Given the description of an element on the screen output the (x, y) to click on. 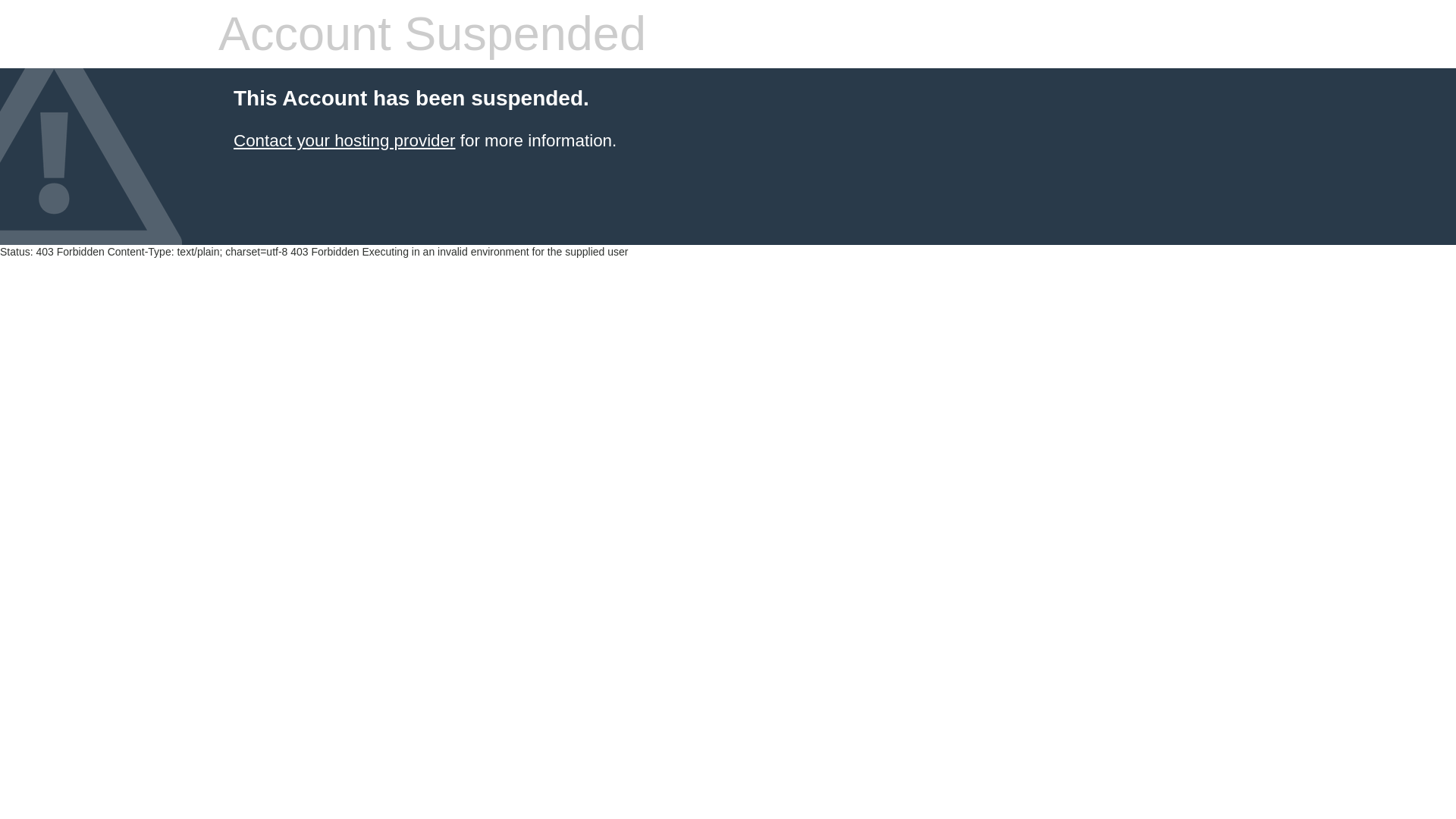
Contact your hosting provider (343, 140)
